Given the description of an element on the screen output the (x, y) to click on. 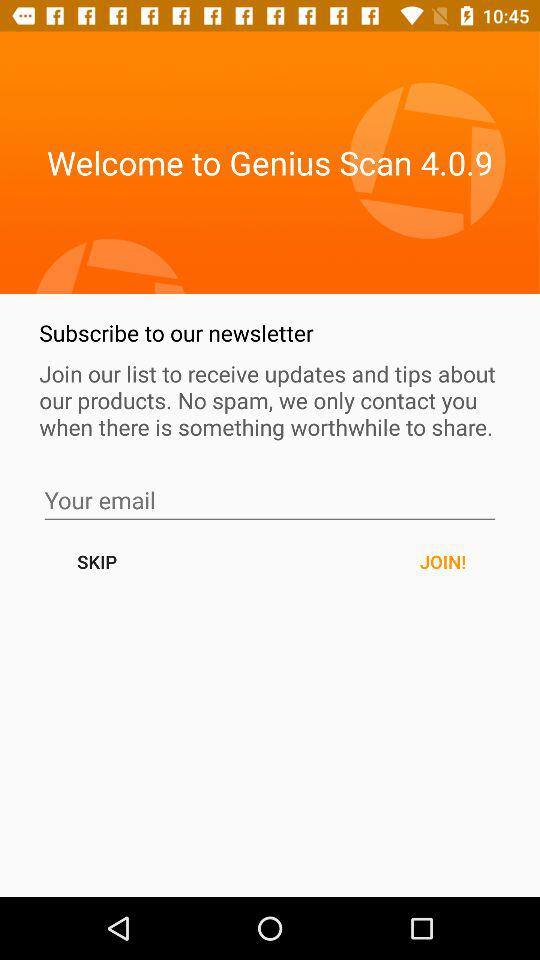
jump until the skip icon (96, 561)
